Given the description of an element on the screen output the (x, y) to click on. 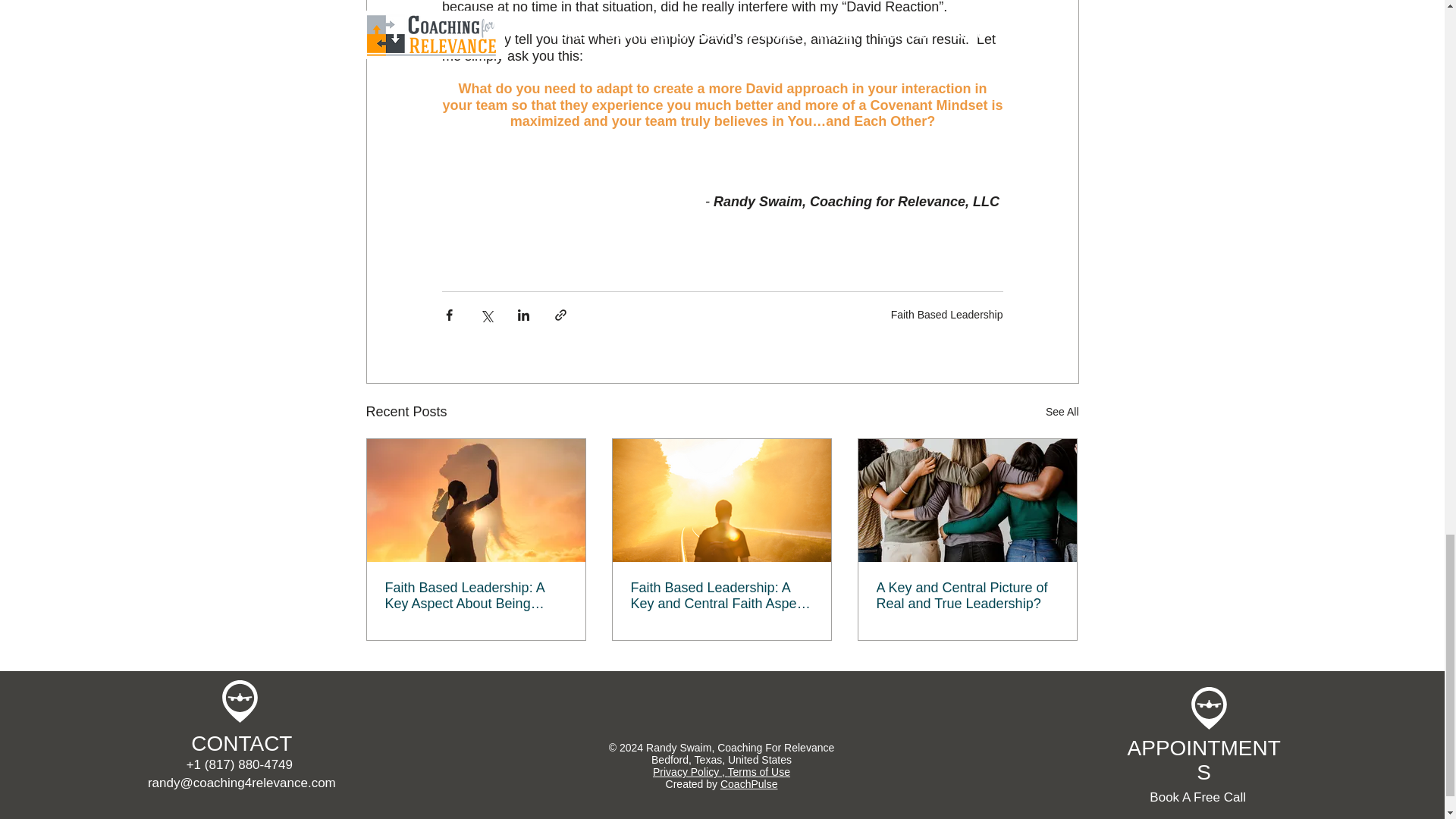
Privacy Policy ,  (690, 771)
Faith Based Leadership (947, 314)
CONTACT (241, 743)
Terms of Use (759, 771)
APPOINTMENTS (1203, 759)
See All (1061, 412)
A Key and Central Picture of Real and True Leadership? (967, 595)
CoachPulse (748, 784)
